Given the description of an element on the screen output the (x, y) to click on. 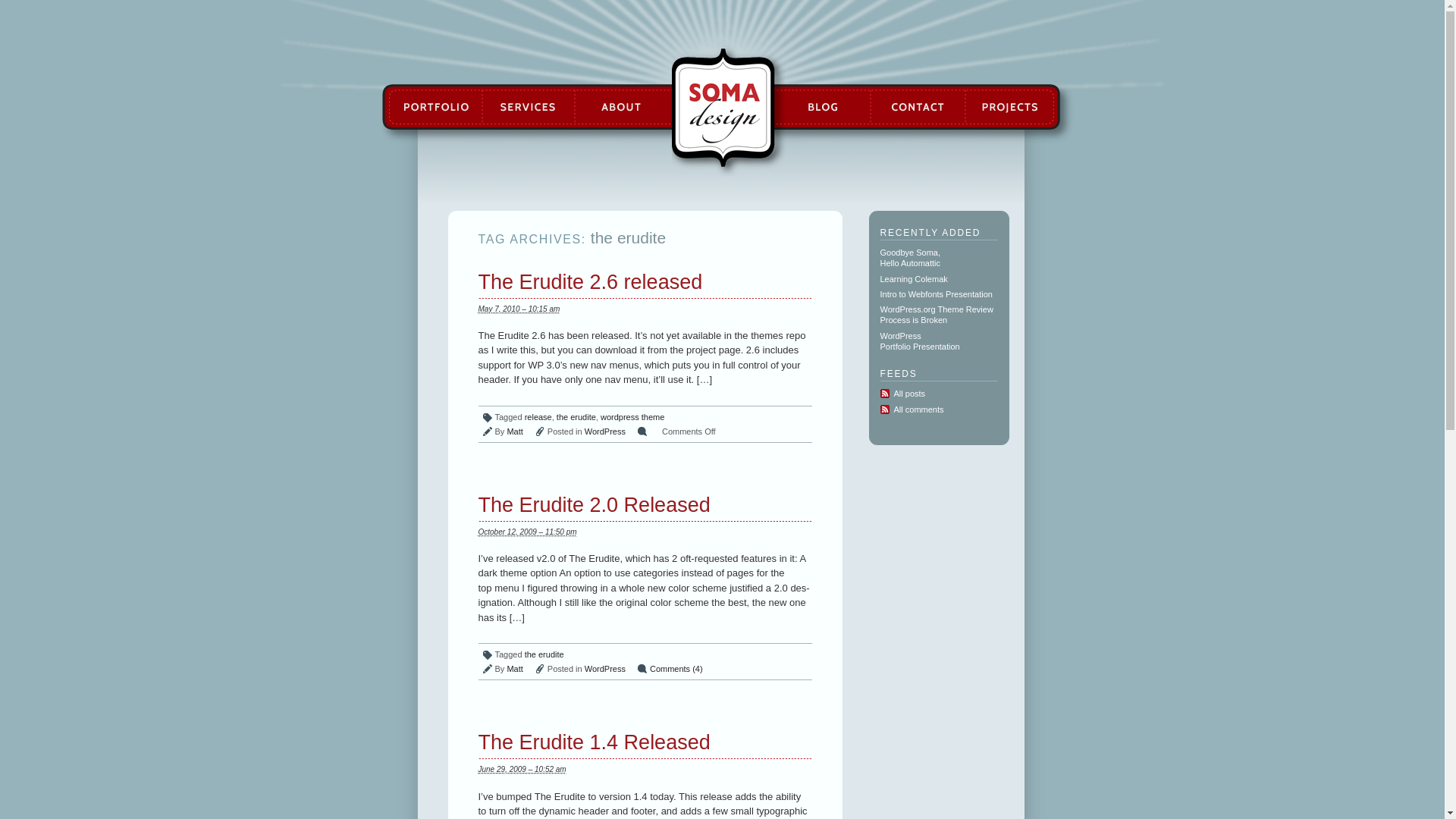
the erudite (544, 654)
2009-06-29T10:52:06-0500 (521, 768)
Matt (514, 668)
wordpress theme (631, 416)
WordPress (605, 668)
the erudite (575, 416)
2009-10-12T23:50:38-0500 (526, 532)
2010-05-07T10:15:48-0500 (518, 308)
View all posts by Matt (514, 430)
The Erudite 2.6 released (589, 281)
release (537, 416)
View all posts by Matt (514, 668)
The Erudite 2.0 Released (593, 504)
